Given the description of an element on the screen output the (x, y) to click on. 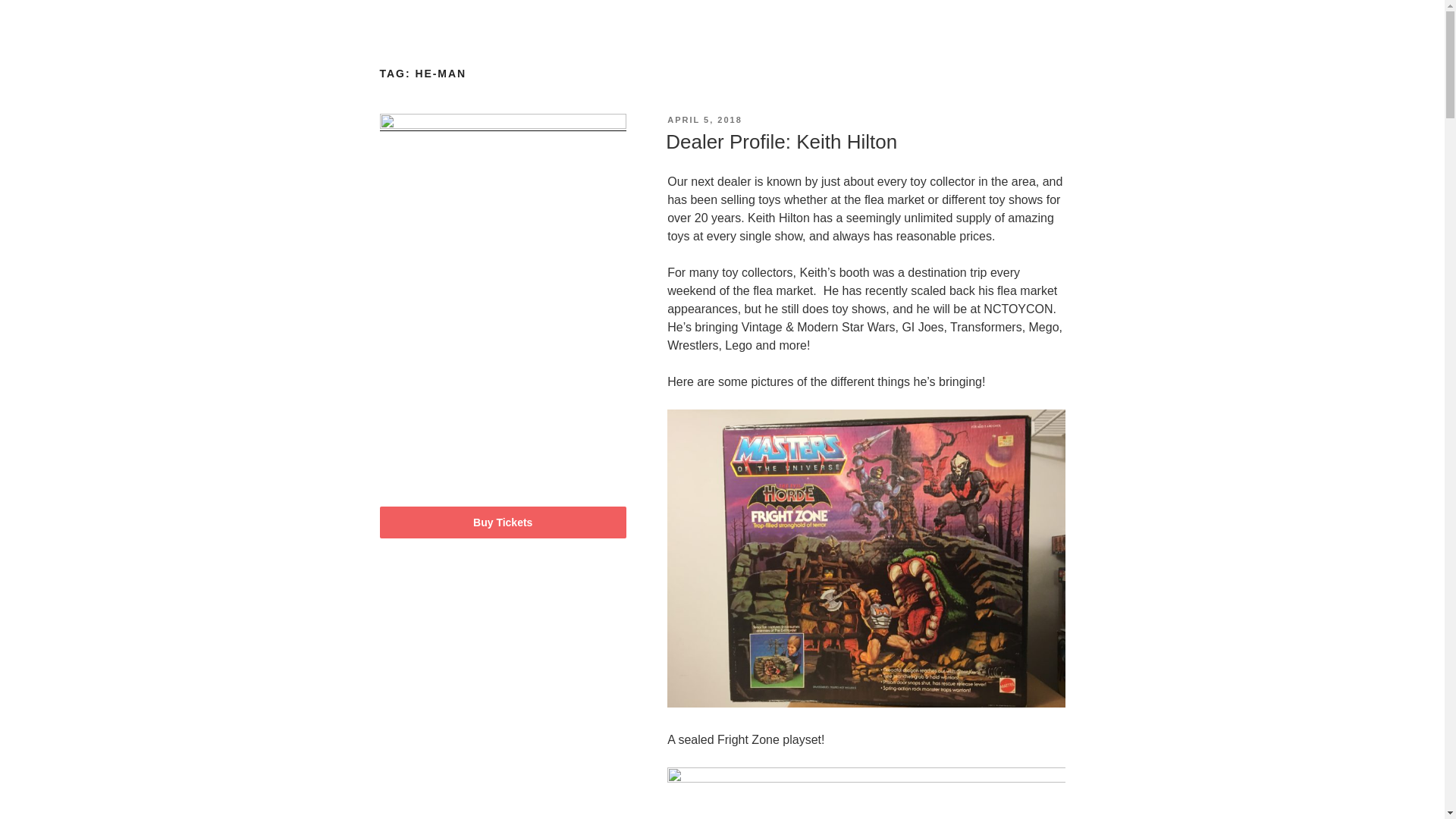
Buy Tickets (502, 522)
APRIL 5, 2018 (704, 119)
Dealer Profile: Keith Hilton (780, 141)
